Given the description of an element on the screen output the (x, y) to click on. 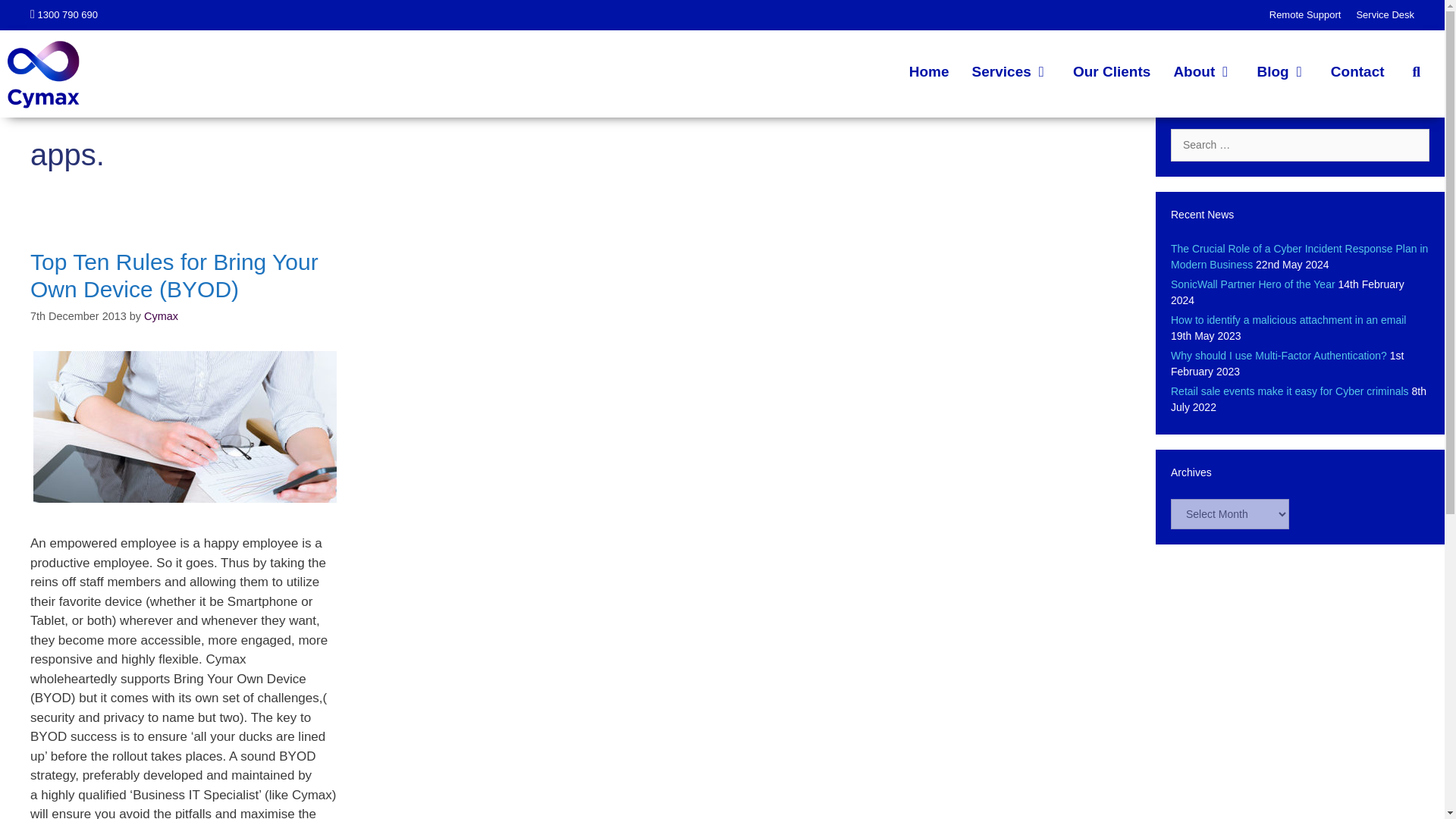
Remote Support (1304, 14)
View all posts by Cymax (160, 316)
Our Clients (1111, 71)
Blog (1281, 71)
Cymax (43, 73)
Home (929, 71)
Search for: (1299, 144)
Services (1010, 71)
Cymax (43, 72)
About (1202, 71)
1300 790 690 (67, 14)
Contact (1357, 71)
Service Desk (1384, 14)
